Given the description of an element on the screen output the (x, y) to click on. 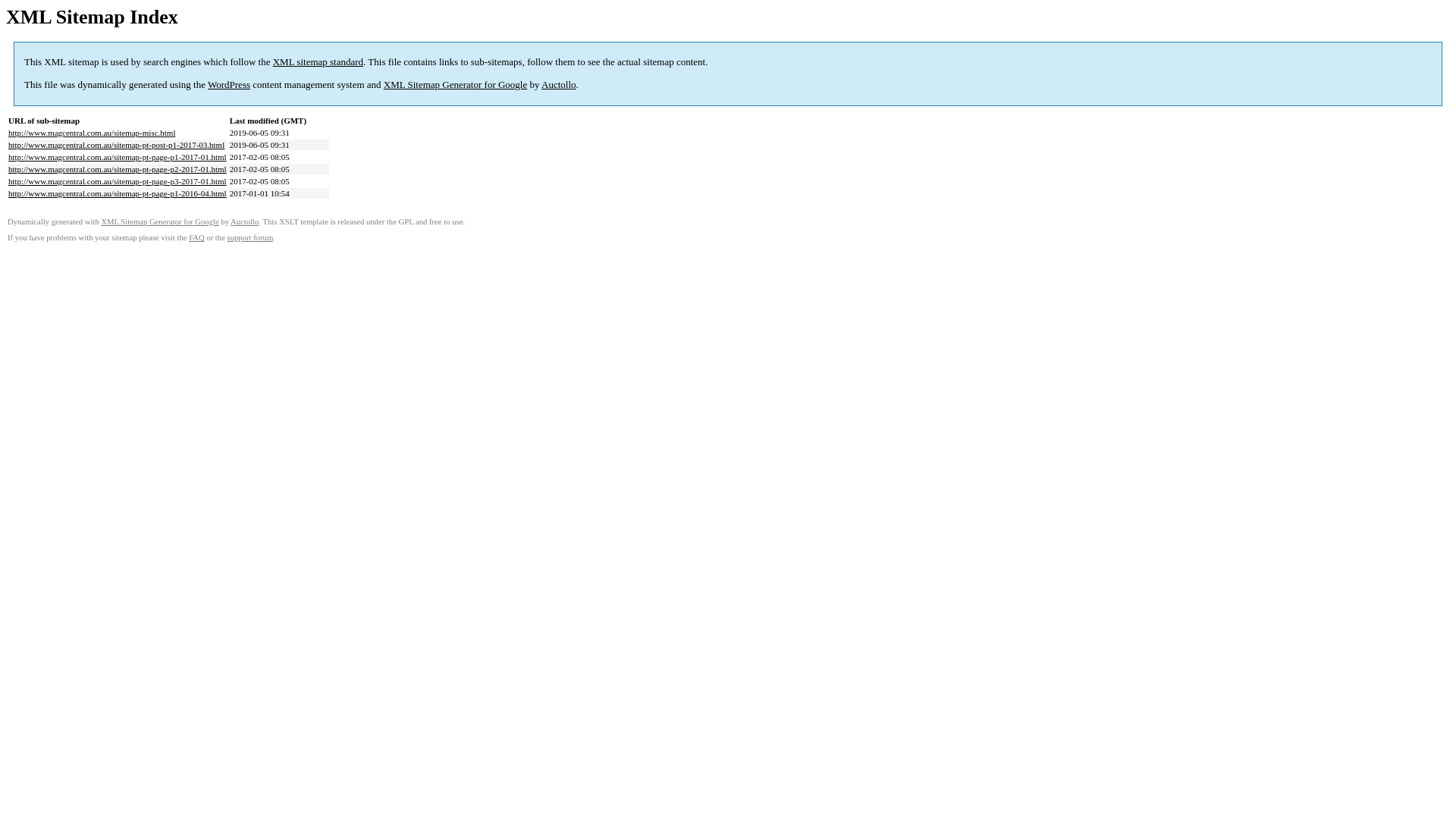
http://www.magcentral.com.au/sitemap-pt-page-p3-2017-01.html Element type: text (117, 180)
http://www.magcentral.com.au/sitemap-pt-page-p2-2017-01.html Element type: text (117, 168)
http://www.magcentral.com.au/sitemap-pt-page-p1-2017-01.html Element type: text (117, 156)
XML Sitemap Generator for Google Element type: text (455, 84)
support forum Element type: text (250, 237)
http://www.magcentral.com.au/sitemap-misc.html Element type: text (91, 132)
http://www.magcentral.com.au/sitemap-pt-post-p1-2017-03.html Element type: text (116, 144)
WordPress Element type: text (228, 84)
Auctollo Element type: text (244, 221)
XML sitemap standard Element type: text (318, 61)
Auctollo Element type: text (558, 84)
http://www.magcentral.com.au/sitemap-pt-page-p1-2016-04.html Element type: text (117, 192)
XML Sitemap Generator for Google Element type: text (159, 221)
FAQ Element type: text (196, 237)
